Given the description of an element on the screen output the (x, y) to click on. 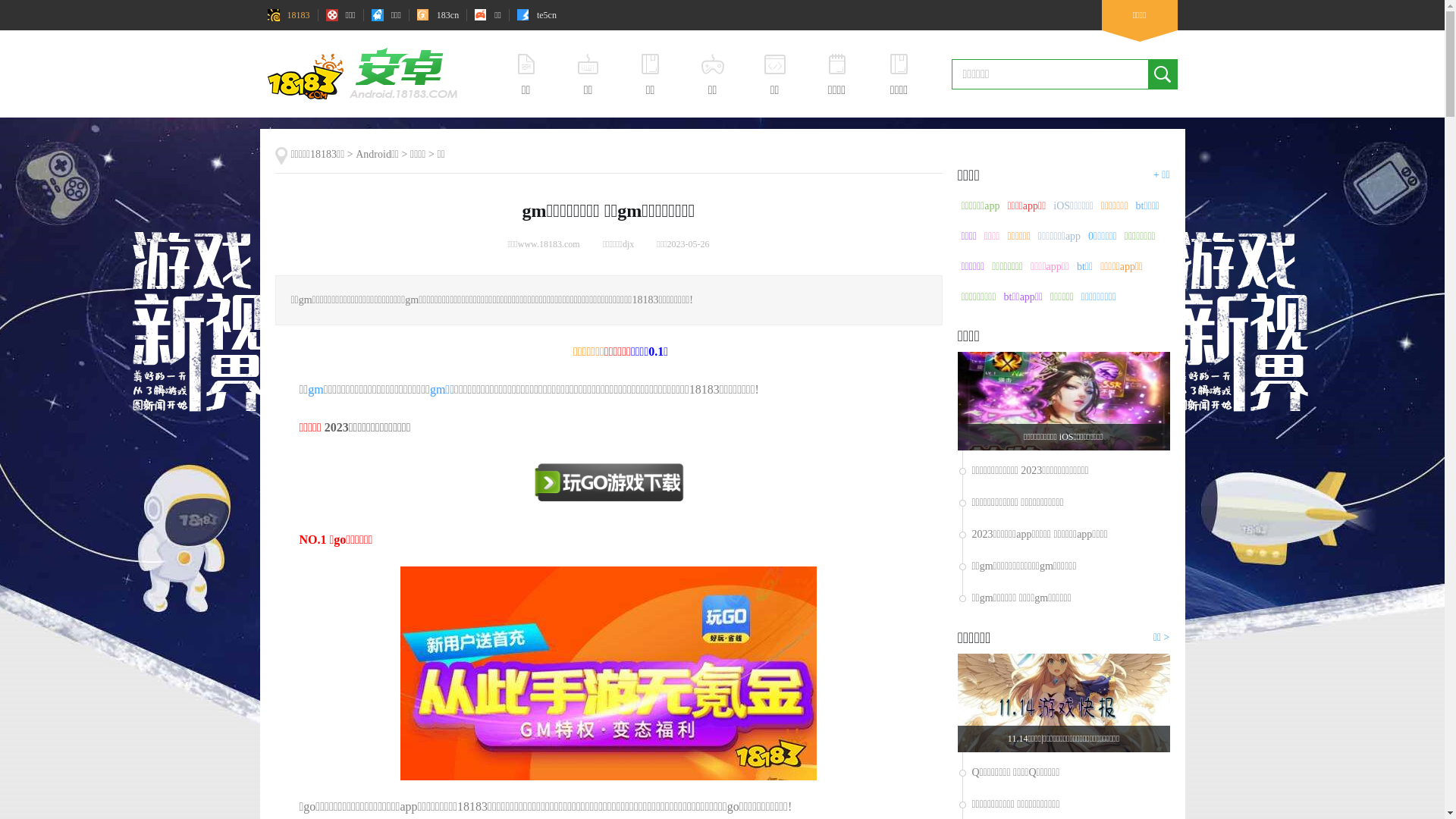
te5cn Element type: text (536, 14)
gm Element type: text (315, 388)
18183 Element type: text (287, 14)
183cn Element type: text (437, 14)
